Given the description of an element on the screen output the (x, y) to click on. 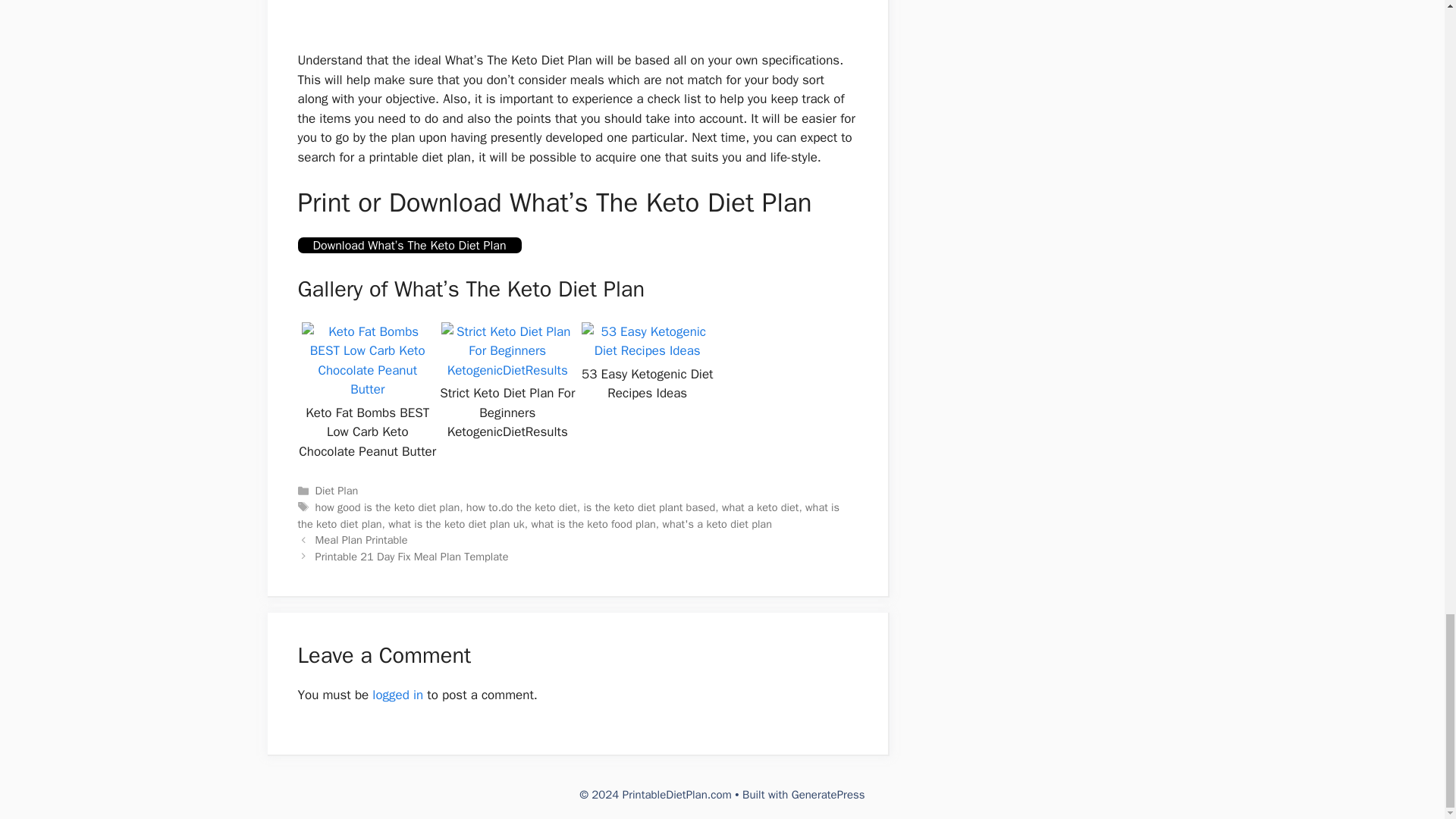
is the keto diet plant based (648, 507)
what is the keto diet plan (568, 515)
what is the keto diet plan uk (456, 523)
Meal Plan Printable (361, 540)
Diet Plan (336, 490)
what is the keto food plan (593, 523)
how good is the keto diet plan (387, 507)
what a keto diet (760, 507)
how to.do the keto diet (520, 507)
what's a keto diet plan (716, 523)
